Given the description of an element on the screen output the (x, y) to click on. 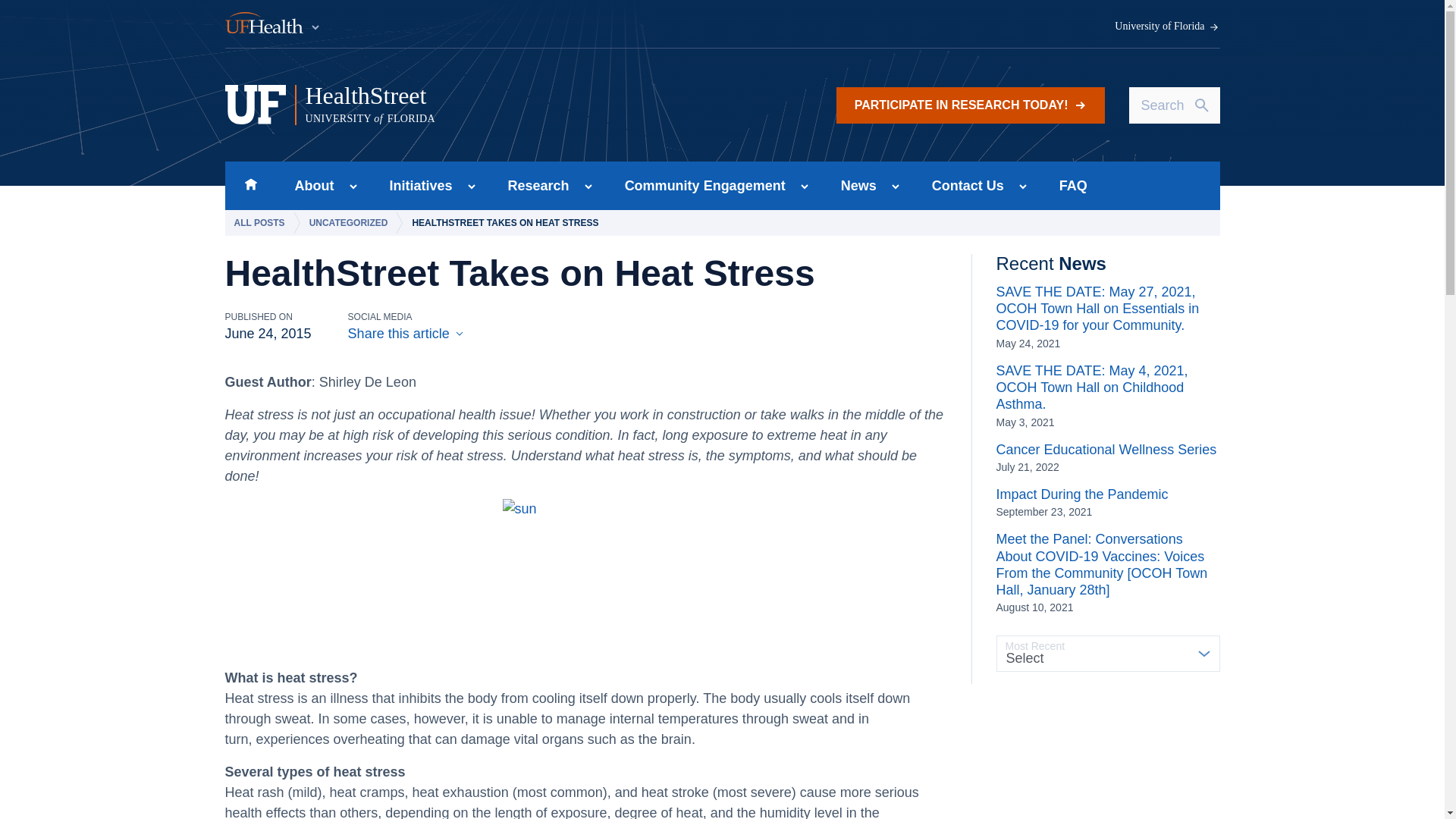
UF Health (272, 24)
Initiatives (416, 185)
sun (585, 577)
About (309, 185)
Skip to main content (515, 105)
PARTICIPATE IN RESEARCH TODAY! (533, 185)
Home (970, 104)
University of Florida (250, 185)
